Given the description of an element on the screen output the (x, y) to click on. 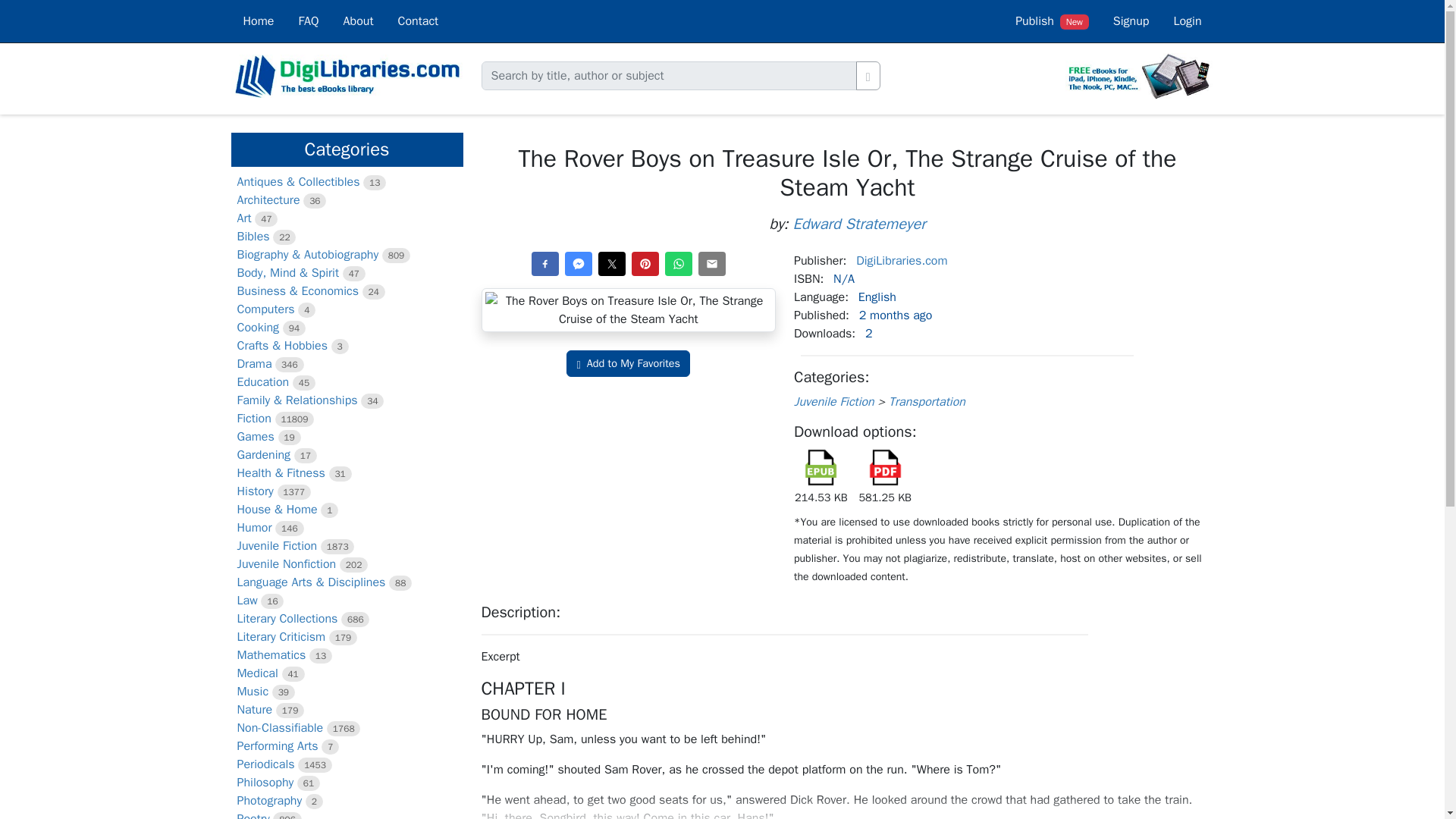
Law (246, 600)
Juvenile Fiction (276, 545)
Literary Collections (286, 618)
Art (242, 218)
PublishNew (1051, 21)
Login (1186, 21)
Gardening (262, 454)
Medical (256, 672)
Drama (252, 363)
Signup (1130, 21)
